Given the description of an element on the screen output the (x, y) to click on. 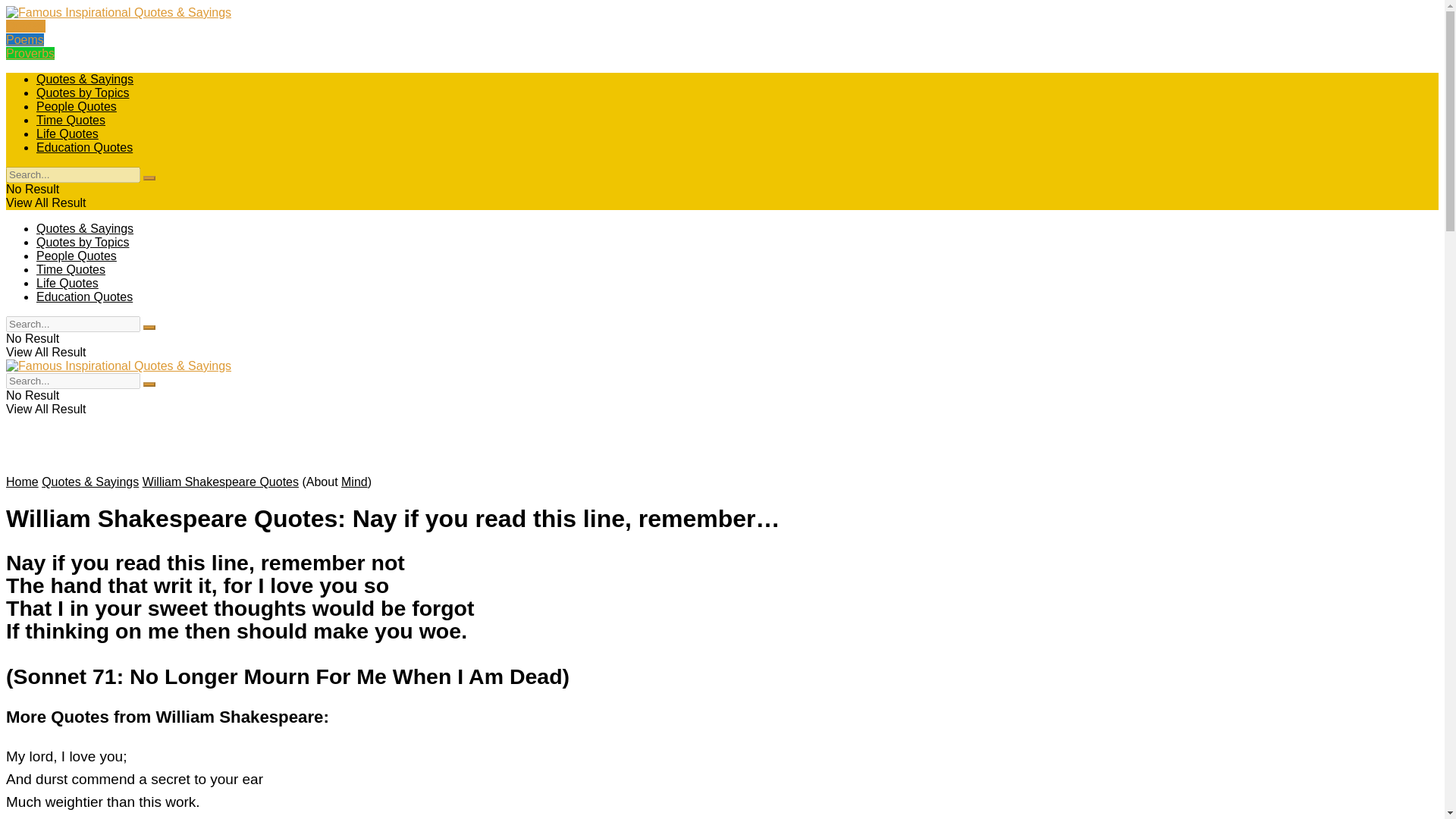
Life Quotes (67, 133)
Quotes (25, 25)
Education Quotes (84, 146)
William Shakespeare (73, 817)
Mind (354, 481)
Education Quotes (84, 296)
Quotes by Topics (82, 92)
Time Quotes (70, 119)
Home (22, 481)
Life Quotes (67, 282)
People Quotes (76, 255)
Time Quotes (70, 269)
Proverbs (30, 52)
People Quotes (76, 106)
Poems (24, 39)
